Given the description of an element on the screen output the (x, y) to click on. 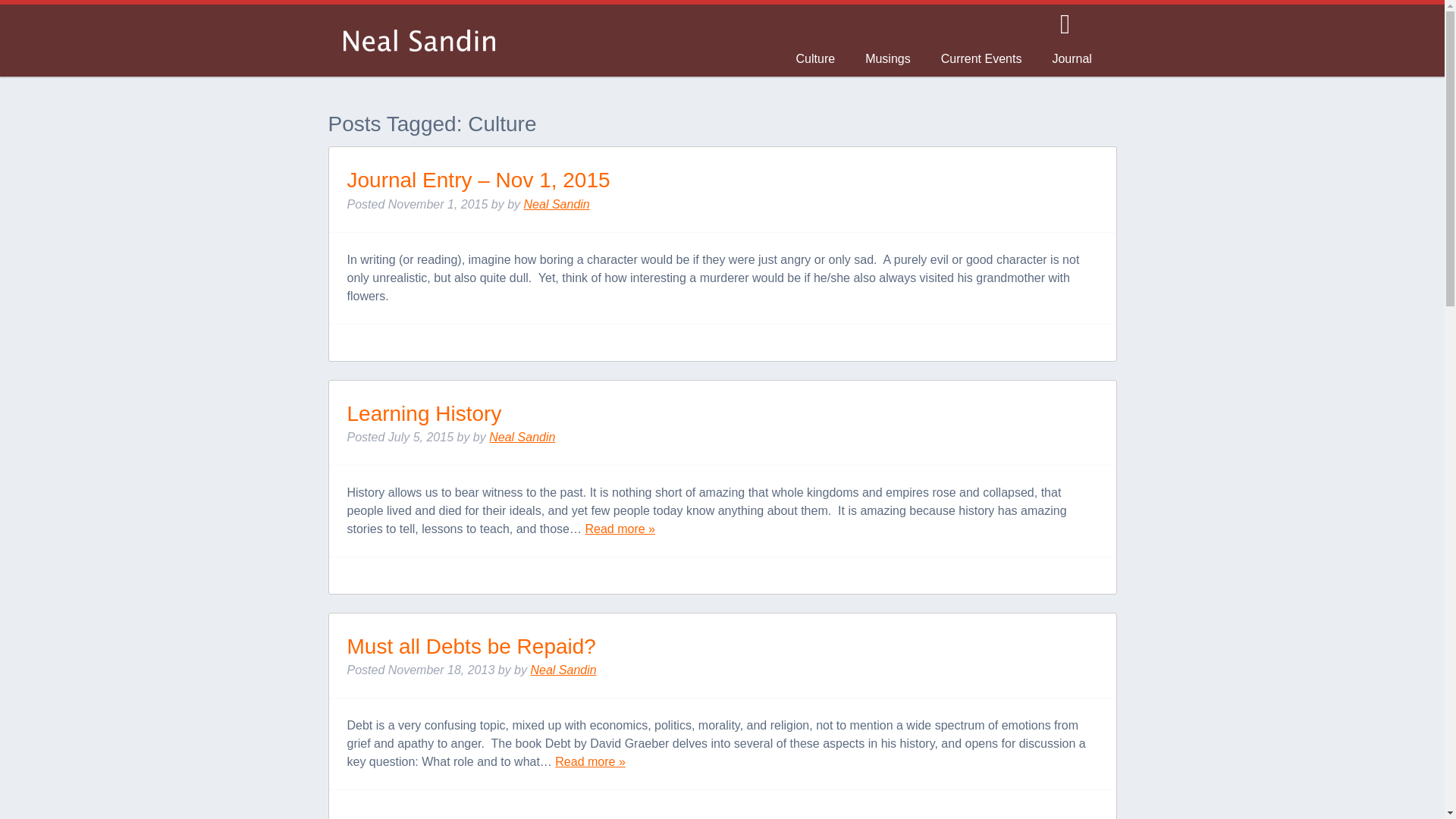
Must all Debts be Repaid? (471, 646)
Neal Sandin (521, 436)
Read Learning History (620, 528)
Neal Sandin (562, 669)
Read Must all Debts be Repaid? (590, 761)
Musings (888, 60)
Must all Debts be Repaid? (471, 646)
Journal (1071, 60)
Culture (815, 60)
Learning History (424, 413)
